Given the description of an element on the screen output the (x, y) to click on. 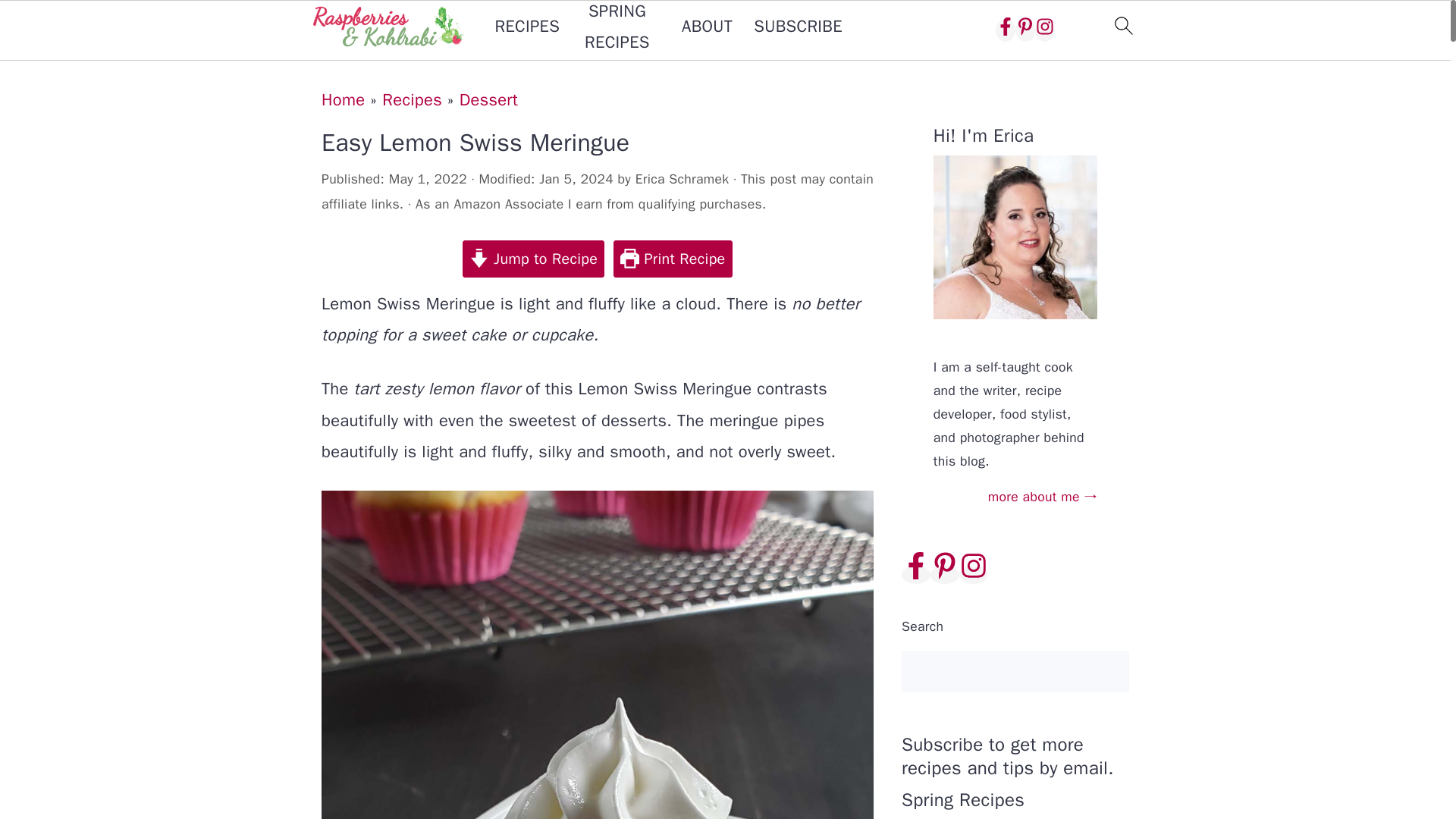
Recipes (411, 99)
SPRING RECIPES (617, 29)
SUBSCRIBE (798, 26)
RECIPES (527, 26)
Jump to Recipe (533, 258)
ABOUT (706, 26)
Erica Schramek (681, 178)
Print Recipe (672, 258)
Home (343, 99)
Dessert (489, 99)
search icon (1122, 25)
